Given the description of an element on the screen output the (x, y) to click on. 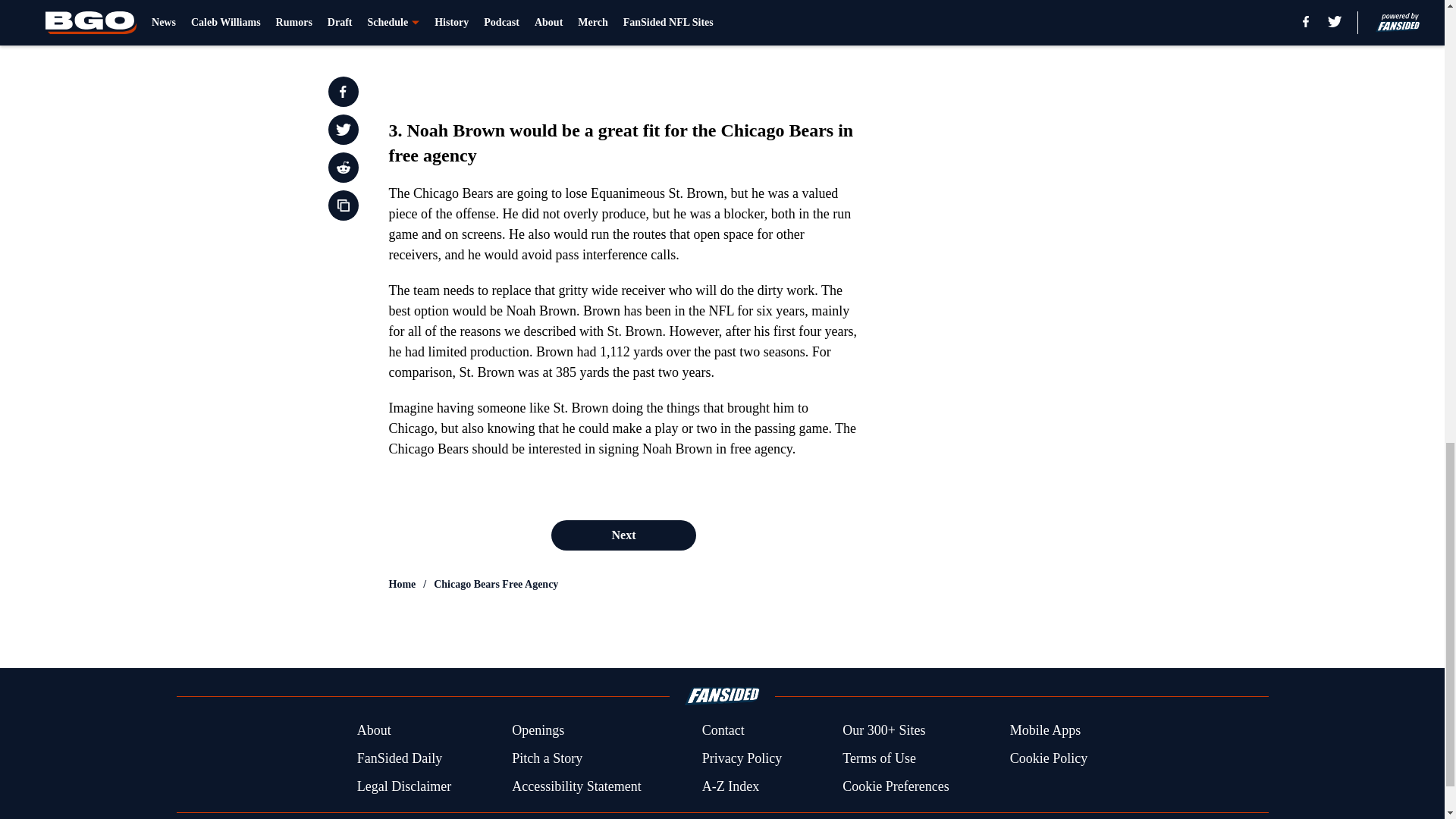
Chicago Bears Free Agency (495, 584)
Mobile Apps (1045, 730)
Privacy Policy (742, 758)
Cookie Policy (1048, 758)
FanSided Daily (399, 758)
Accessibility Statement (576, 786)
Terms of Use (879, 758)
Openings (538, 730)
Next (622, 535)
About (373, 730)
